Given the description of an element on the screen output the (x, y) to click on. 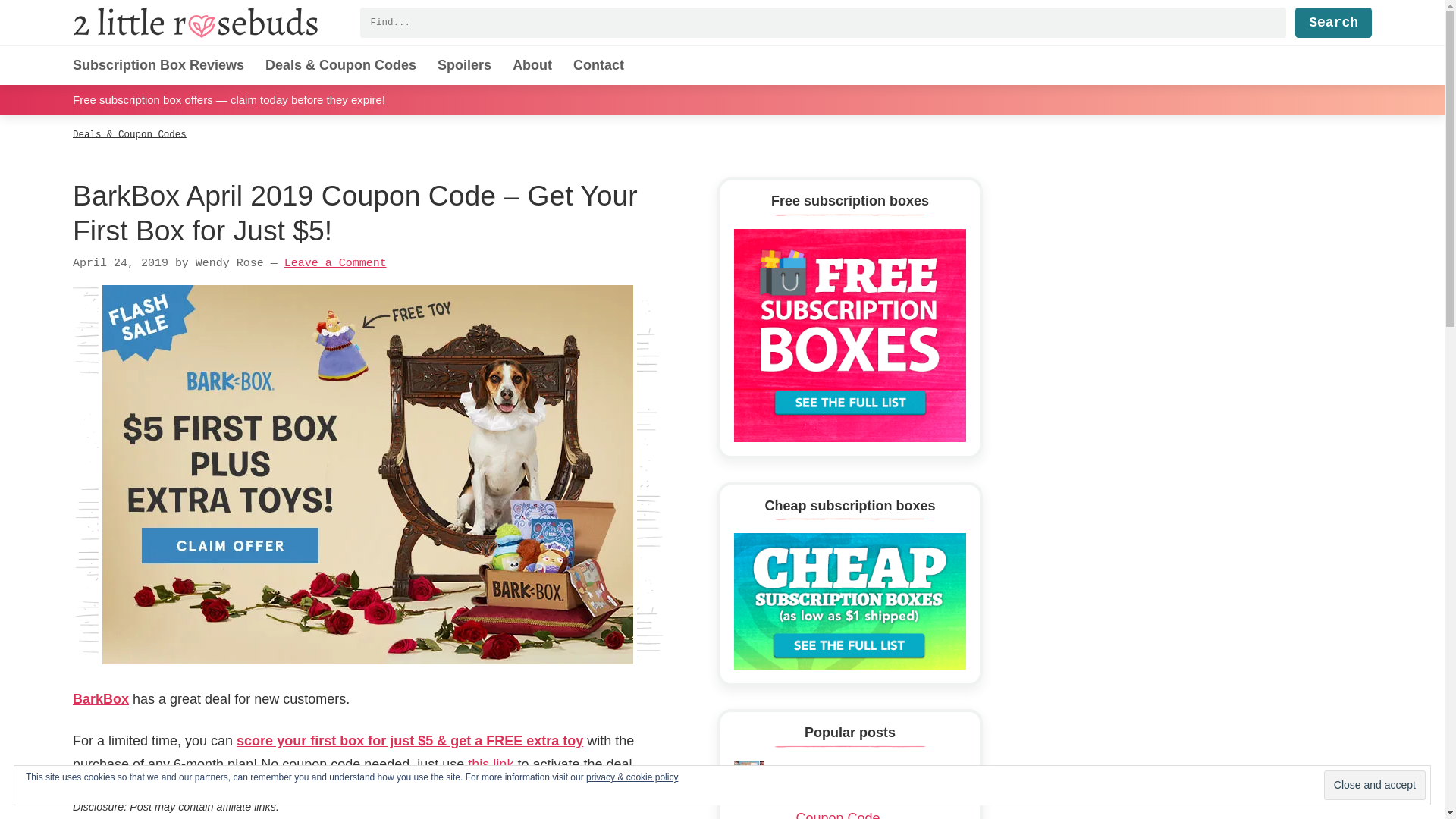
Search (1333, 22)
Leave a Comment (335, 263)
BarkBox (100, 698)
Close and accept (1374, 785)
Search (1333, 22)
Subscription Box Spoilers (465, 65)
Contact (598, 65)
Cheap subscription boxes (849, 601)
About (531, 65)
this link (490, 764)
Subscription Box Reviews (158, 65)
Spoilers (465, 65)
Search (1333, 22)
